Given the description of an element on the screen output the (x, y) to click on. 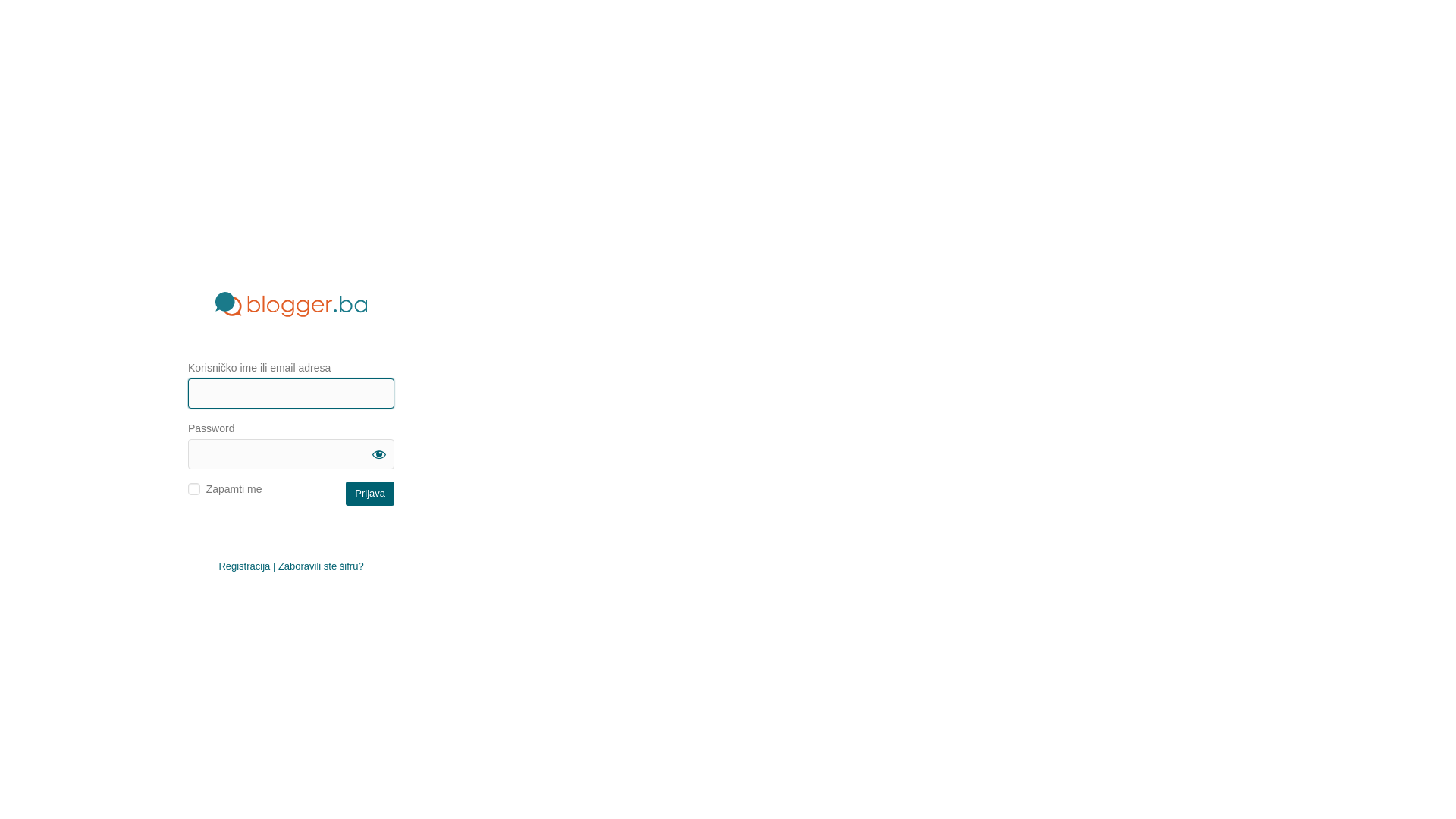
Registracija Element type: text (243, 565)
Prijava Element type: text (369, 493)
